Given the description of an element on the screen output the (x, y) to click on. 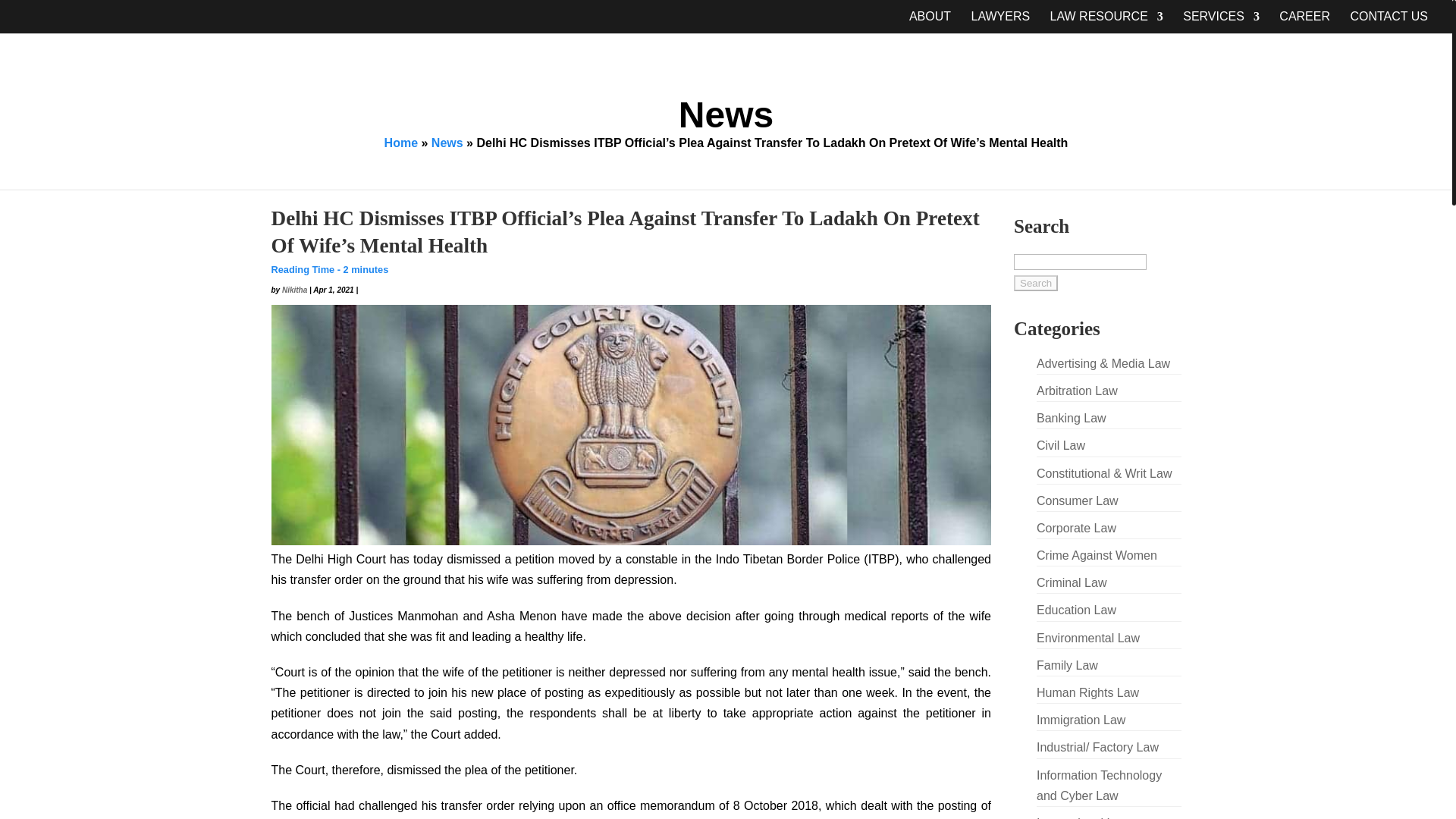
LAWYERS (1000, 22)
CAREER (1304, 22)
LAW RESOURCE (1106, 22)
Nikitha (294, 289)
ABOUT (929, 22)
SERVICES (1220, 22)
CONTACT US (1388, 22)
Posts by Nikitha (294, 289)
Home (400, 142)
Search (1035, 283)
